Given the description of an element on the screen output the (x, y) to click on. 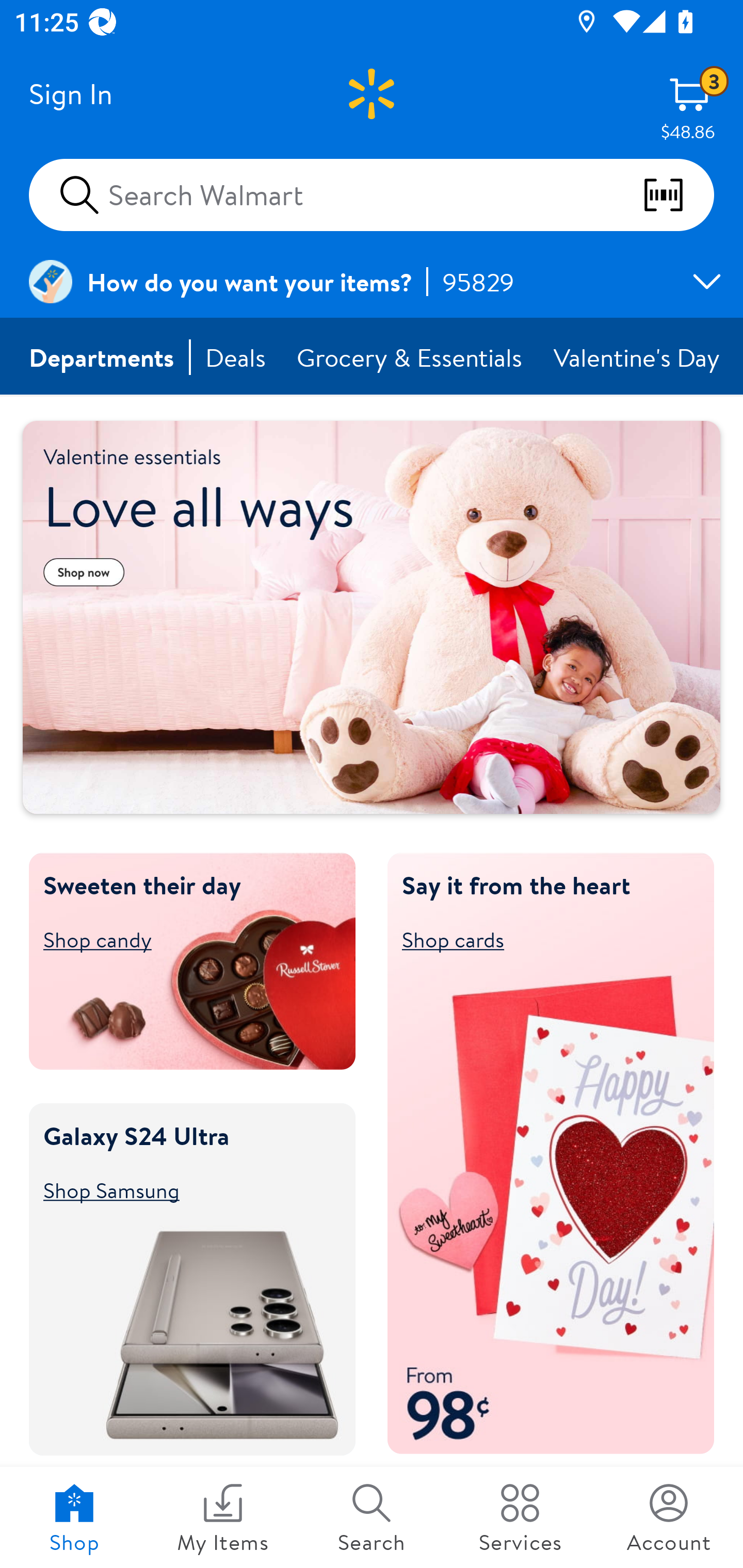
Sign In (70, 93)
Search Walmart scan barcodes qr codes and more (371, 194)
scan barcodes qr codes and more (677, 195)
Departments (102, 357)
Deals (236, 357)
Grocery & Essentials (410, 357)
Valentine's Day (637, 357)
Play (72, 777)
Shop candy Shop candy Sweeten their day (183, 939)
Shop cards Shop cards Say it from the heart (541, 939)
Shop Samsung Shop Samsung Galaxy S24 Ultra (183, 1190)
My Items (222, 1517)
Search (371, 1517)
Services (519, 1517)
Account (668, 1517)
